Given the description of an element on the screen output the (x, y) to click on. 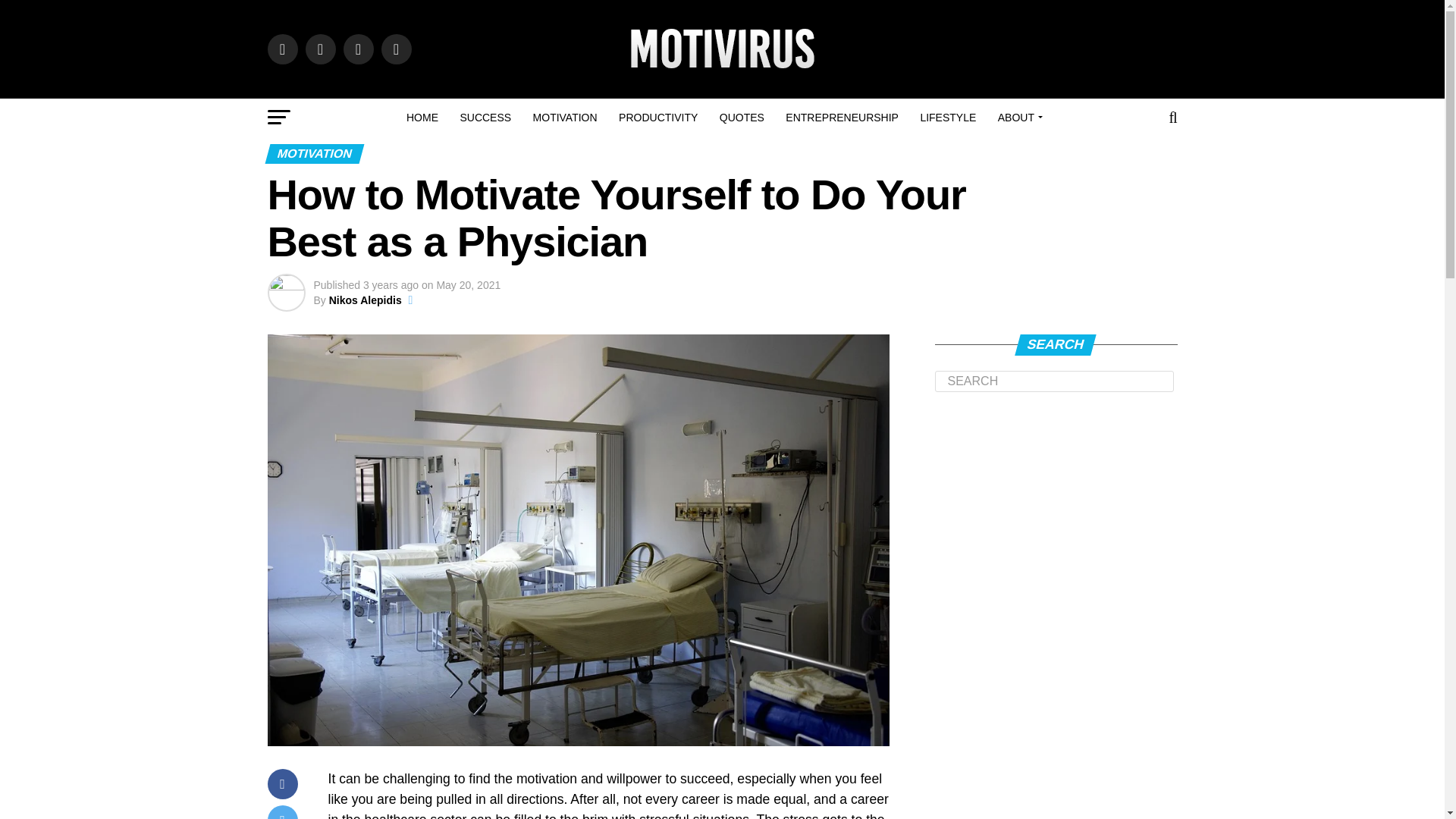
MOTIVATION (565, 117)
Posts by Nikos Alepidis (365, 300)
Search (1053, 381)
SUCCESS (484, 117)
PRODUCTIVITY (658, 117)
LIFESTYLE (948, 117)
ABOUT (1017, 117)
HOME (421, 117)
QUOTES (741, 117)
Nikos Alepidis (365, 300)
ENTREPRENEURSHIP (841, 117)
